Given the description of an element on the screen output the (x, y) to click on. 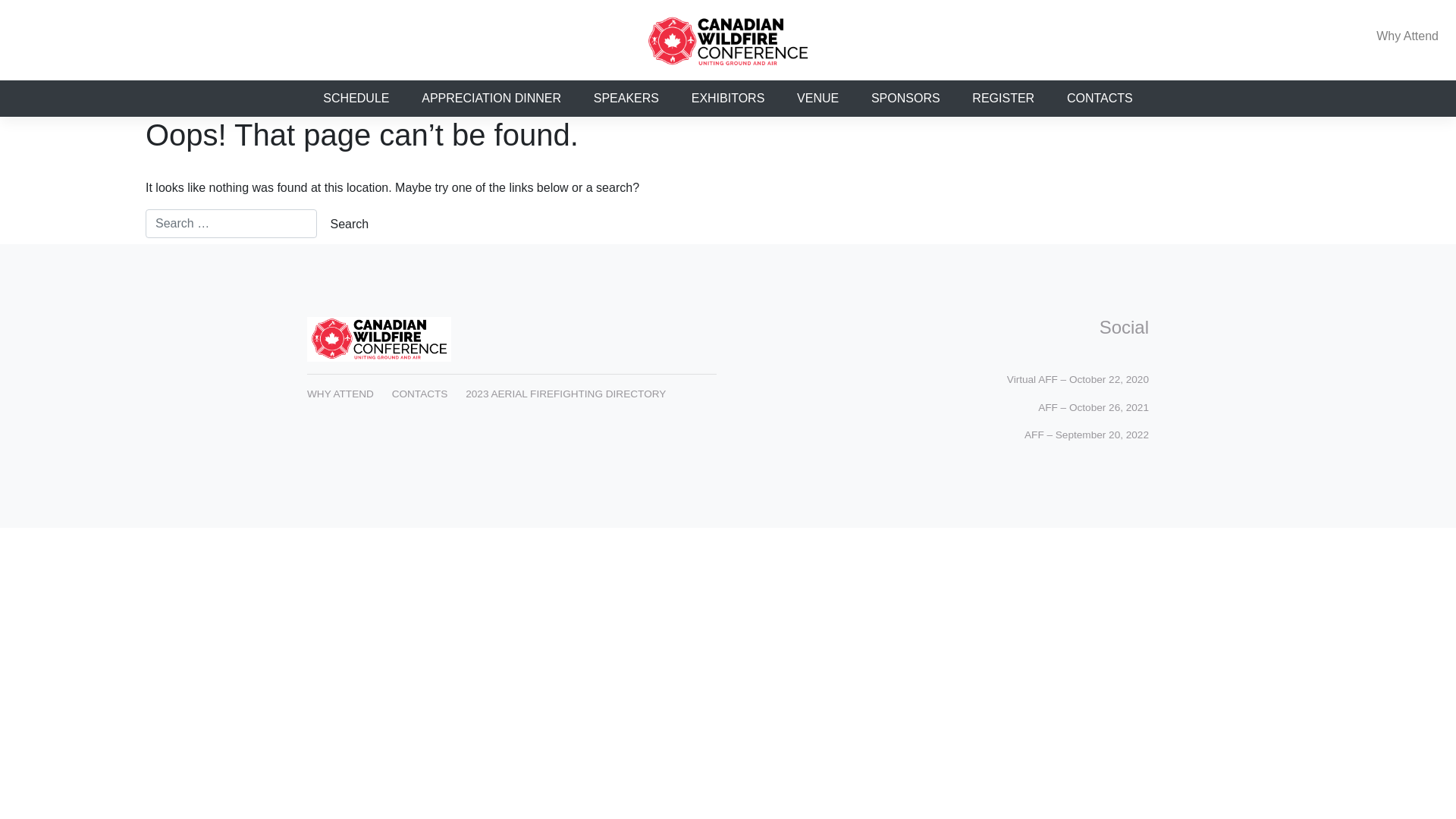
VENUE Element type: text (818, 98)
EXHIBITORS Element type: text (727, 98)
APPRECIATION DINNER Element type: text (491, 98)
WHY ATTEND Element type: text (340, 393)
Why Attend Element type: text (1407, 36)
SPEAKERS Element type: text (625, 98)
CONTACTS Element type: text (420, 393)
Search Element type: text (349, 224)
Search for: Element type: hover (230, 223)
2023 AERIAL FIREFIGHTING DIRECTORY Element type: text (565, 393)
SPONSORS Element type: text (905, 98)
REGISTER Element type: text (1003, 98)
SCHEDULE Element type: text (356, 98)
CONTACTS Element type: text (1100, 98)
